Given the description of an element on the screen output the (x, y) to click on. 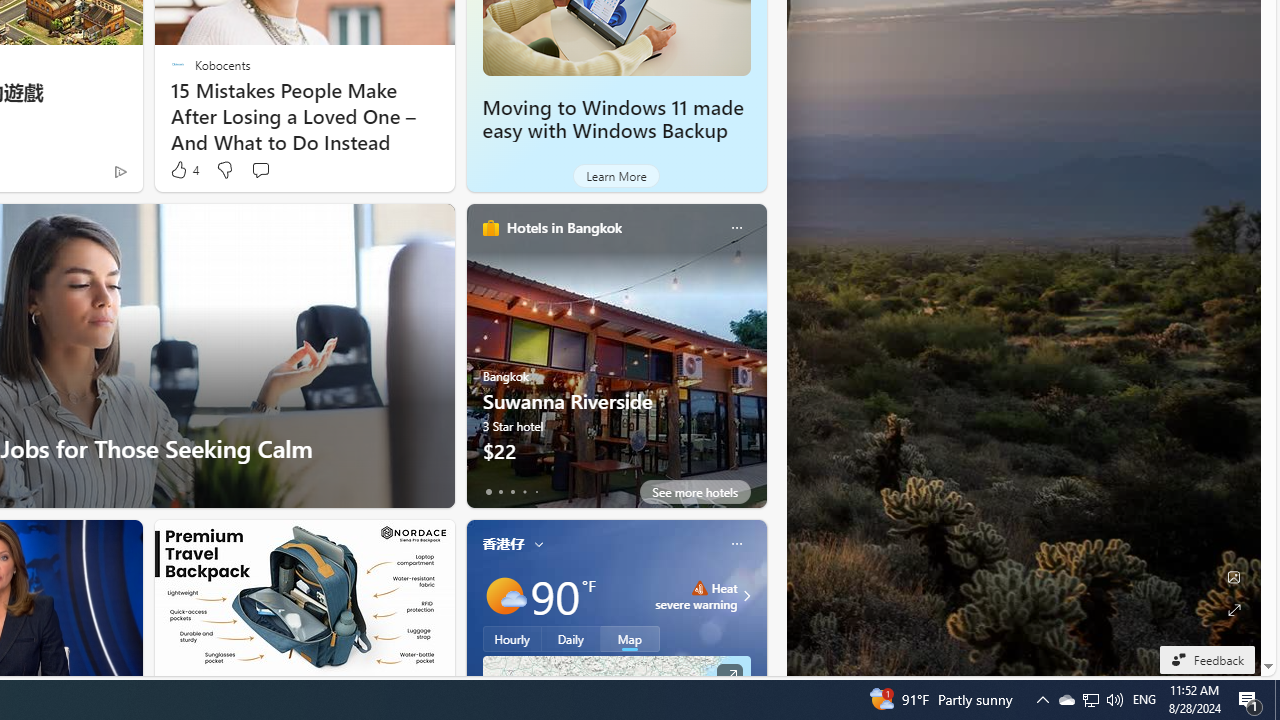
Mostly sunny (504, 595)
Heat - Severe (699, 588)
tab-3 (524, 491)
See more hotels (694, 491)
Hotels in Bangkok (563, 227)
Edit Background (1233, 577)
Hourly (511, 638)
tab-0 (488, 491)
Suwanna Riverside (615, 363)
Start the conversation (260, 169)
Map (630, 638)
4 Like (183, 170)
Daily (571, 638)
Heat - Severe Heat severe warning (696, 596)
